Given the description of an element on the screen output the (x, y) to click on. 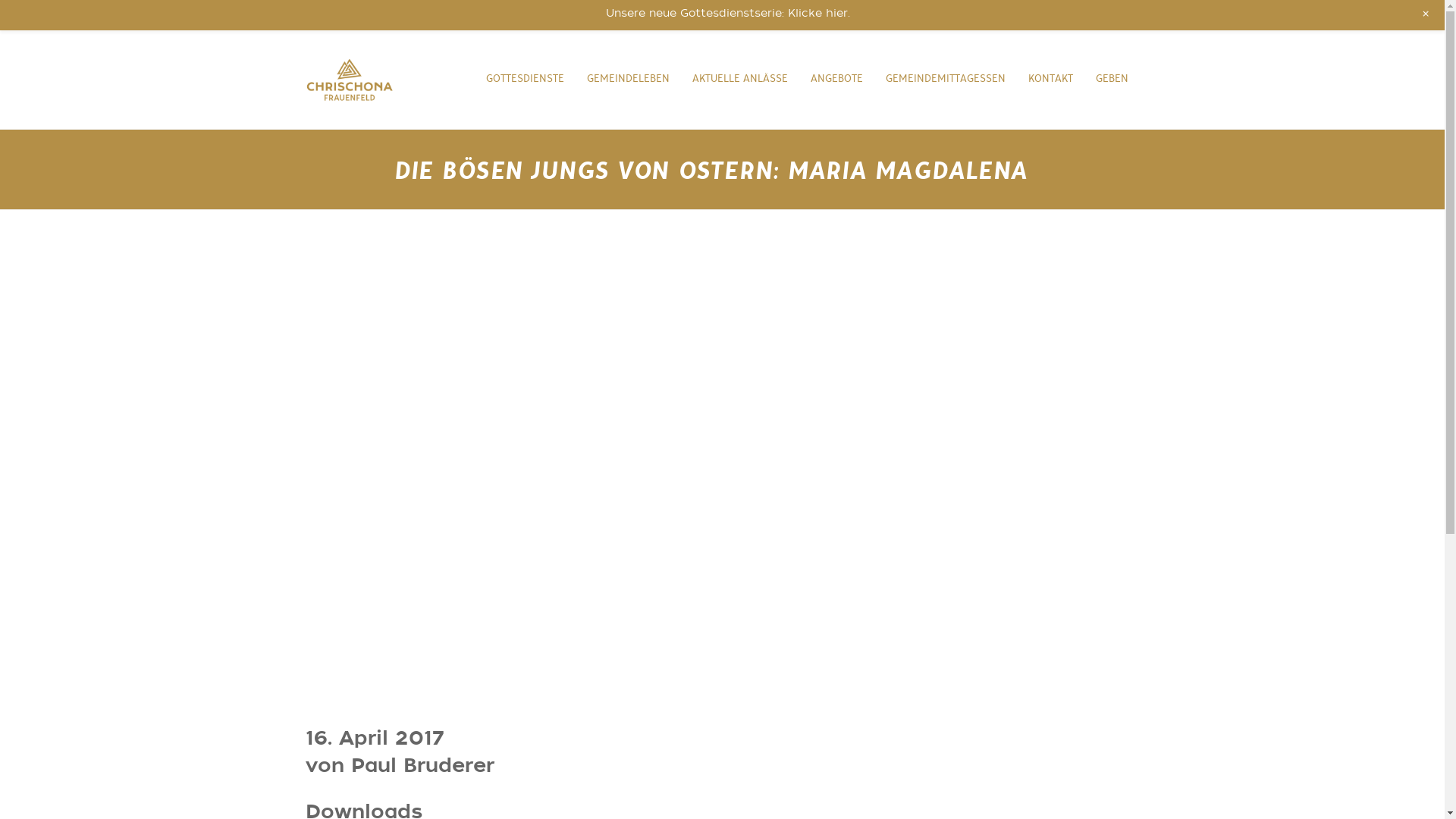
GEMEINDELEBEN Element type: text (627, 79)
ANGEBOTE Element type: text (835, 79)
KONTAKT Element type: text (1050, 79)
+ Element type: text (1424, 14)
GOTTESDIENSTE Element type: text (524, 79)
GEMEINDEMITTAGESSEN Element type: text (945, 79)
GEBEN Element type: text (1111, 79)
Unsere neue Gottesdienstserie: Klicke hier. Element type: text (727, 14)
Paul Bruderer Element type: text (421, 767)
